Given the description of an element on the screen output the (x, y) to click on. 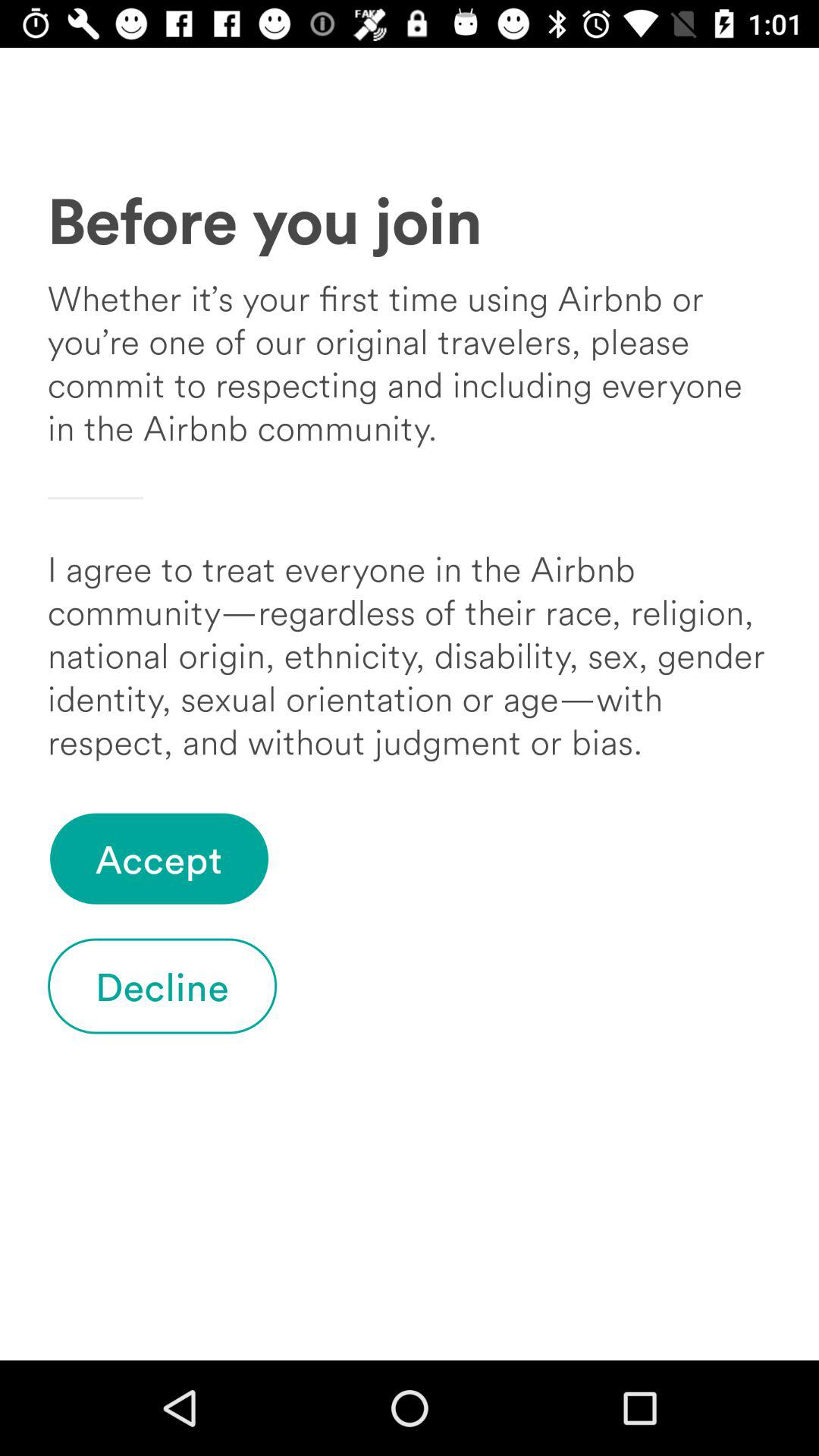
tap decline item (161, 985)
